Given the description of an element on the screen output the (x, y) to click on. 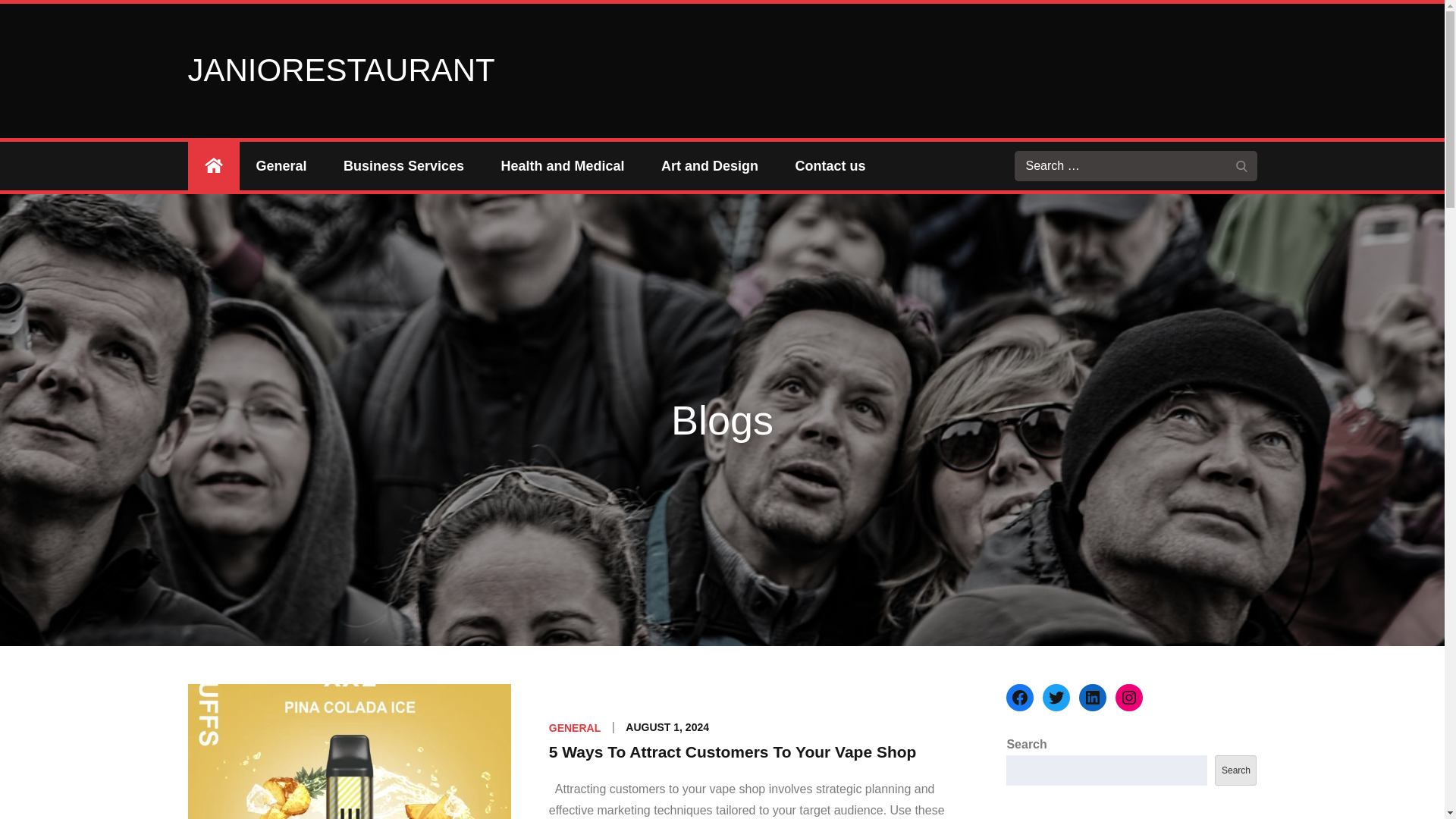
Search (1242, 165)
5 Ways To Attract Customers To Your Vape Shop (732, 751)
Business Services (403, 165)
AUGUST 1, 2024 (667, 727)
Health and Medical (563, 165)
Art and Design (709, 165)
GENERAL (573, 727)
JANIORESTAURANT (341, 69)
General (281, 165)
Contact us (830, 165)
